Given the description of an element on the screen output the (x, y) to click on. 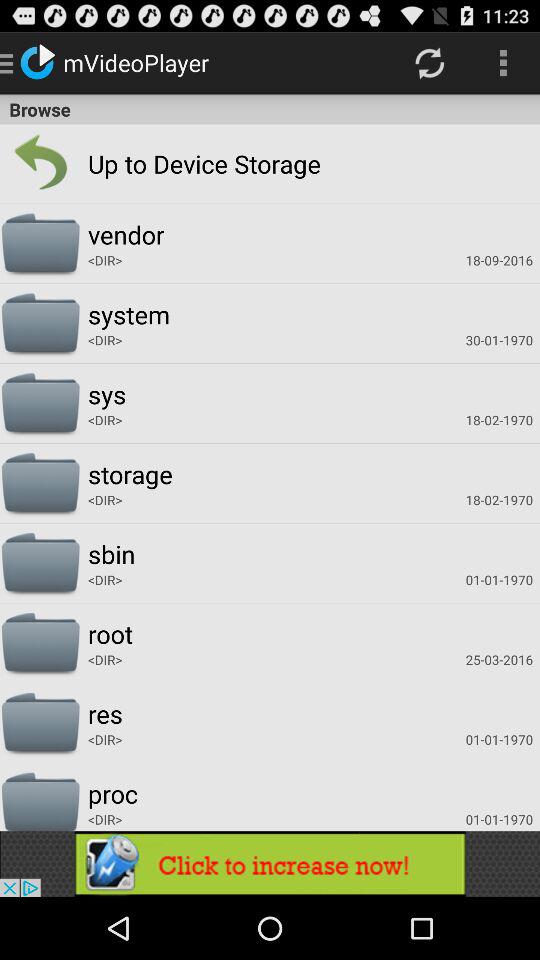
open item to the right of the mvideoplayer item (429, 62)
